Given the description of an element on the screen output the (x, y) to click on. 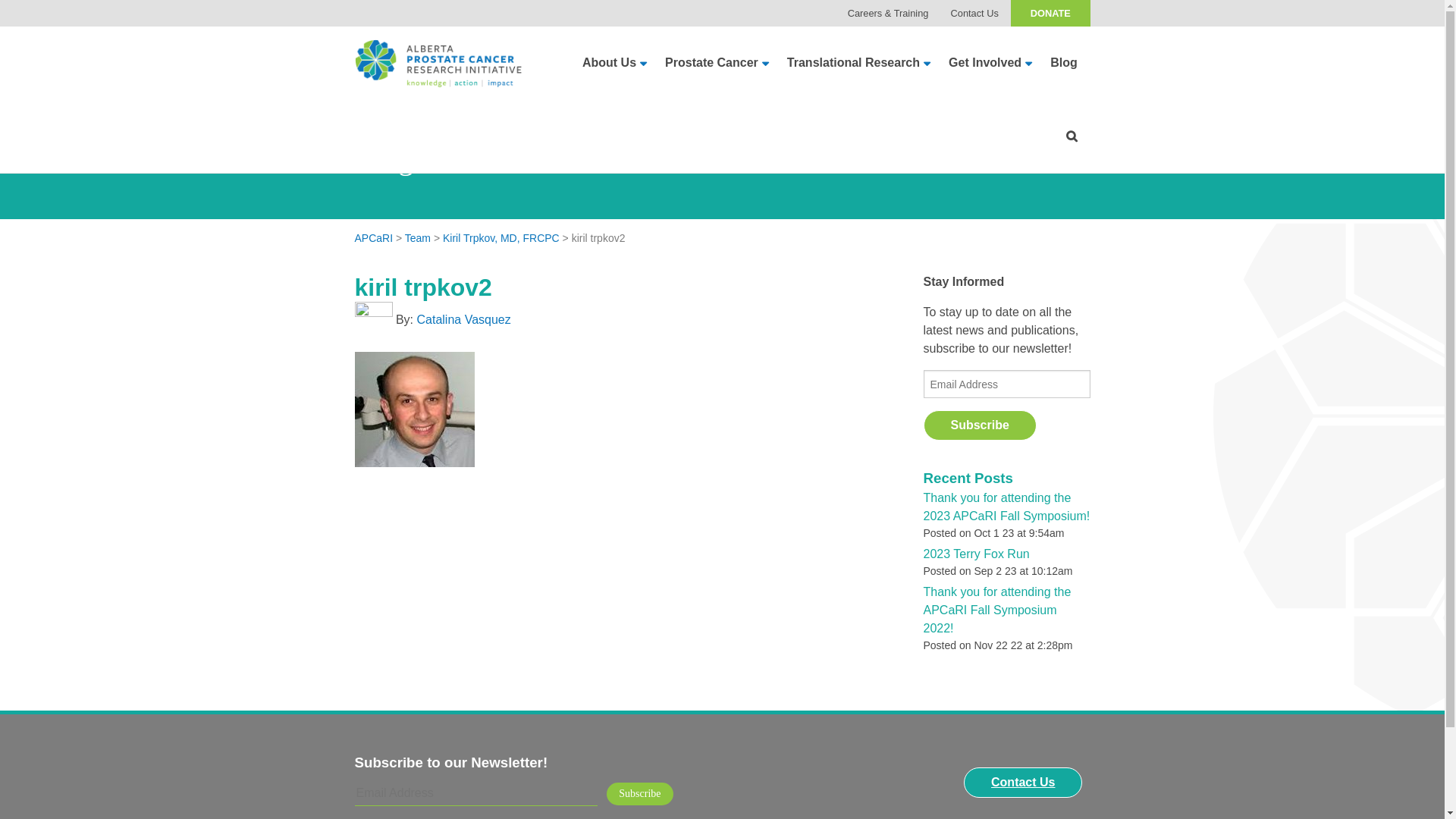
Catalina Vasquez Element type: text (464, 319)
2023 Terry Fox Run Element type: text (976, 553)
Thank you for attending the APCaRI Fall Symposium 2022! Element type: text (997, 609)
Get Involved Element type: text (984, 62)
Subscribe Element type: text (639, 793)
Contact Us Element type: text (1022, 782)
Translational Research Element type: text (853, 62)
Blog Element type: text (1063, 62)
Kiril Trpkov, MD, FRCPC Element type: text (500, 238)
DONATE Element type: text (1049, 13)
Careers & Training Element type: text (887, 13)
Thank you for attending the 2023 APCaRI Fall Symposium! Element type: text (1006, 506)
Prostate Cancer Element type: text (711, 62)
Team Element type: text (417, 238)
APCaRI Element type: text (373, 238)
Subscribe Element type: text (979, 425)
Contact Us Element type: text (974, 13)
About Us Element type: text (609, 62)
